Given the description of an element on the screen output the (x, y) to click on. 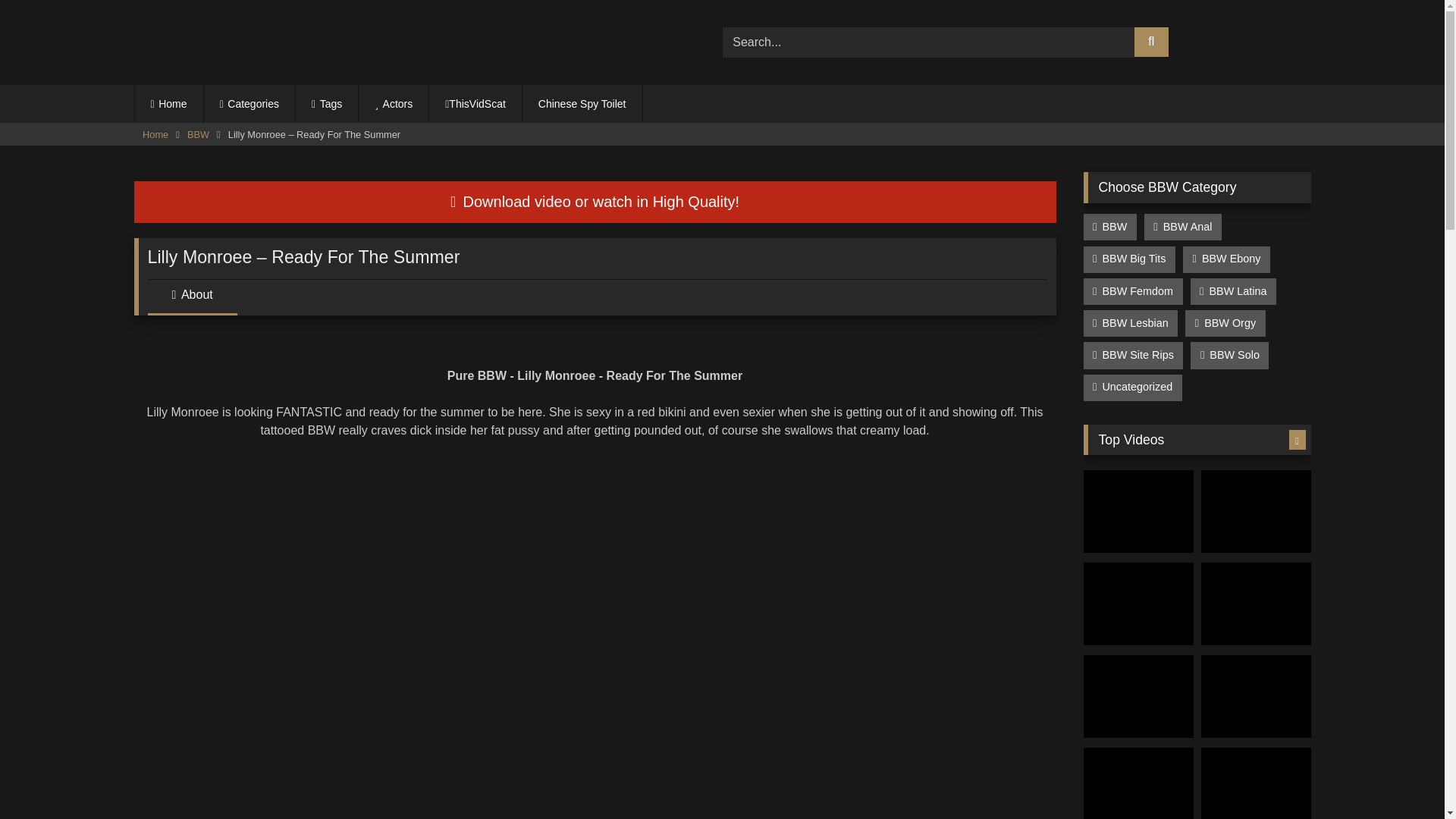
Categories (249, 103)
Chinese Spy Toilet (582, 103)
Tags (326, 103)
Home (169, 103)
BBW (198, 134)
Home (155, 134)
About (191, 300)
Search... (928, 42)
The Best BBW Porn Tube Videos HD Online (228, 42)
Actors (393, 103)
Download video or watch in High Quality! (594, 201)
